Given the description of an element on the screen output the (x, y) to click on. 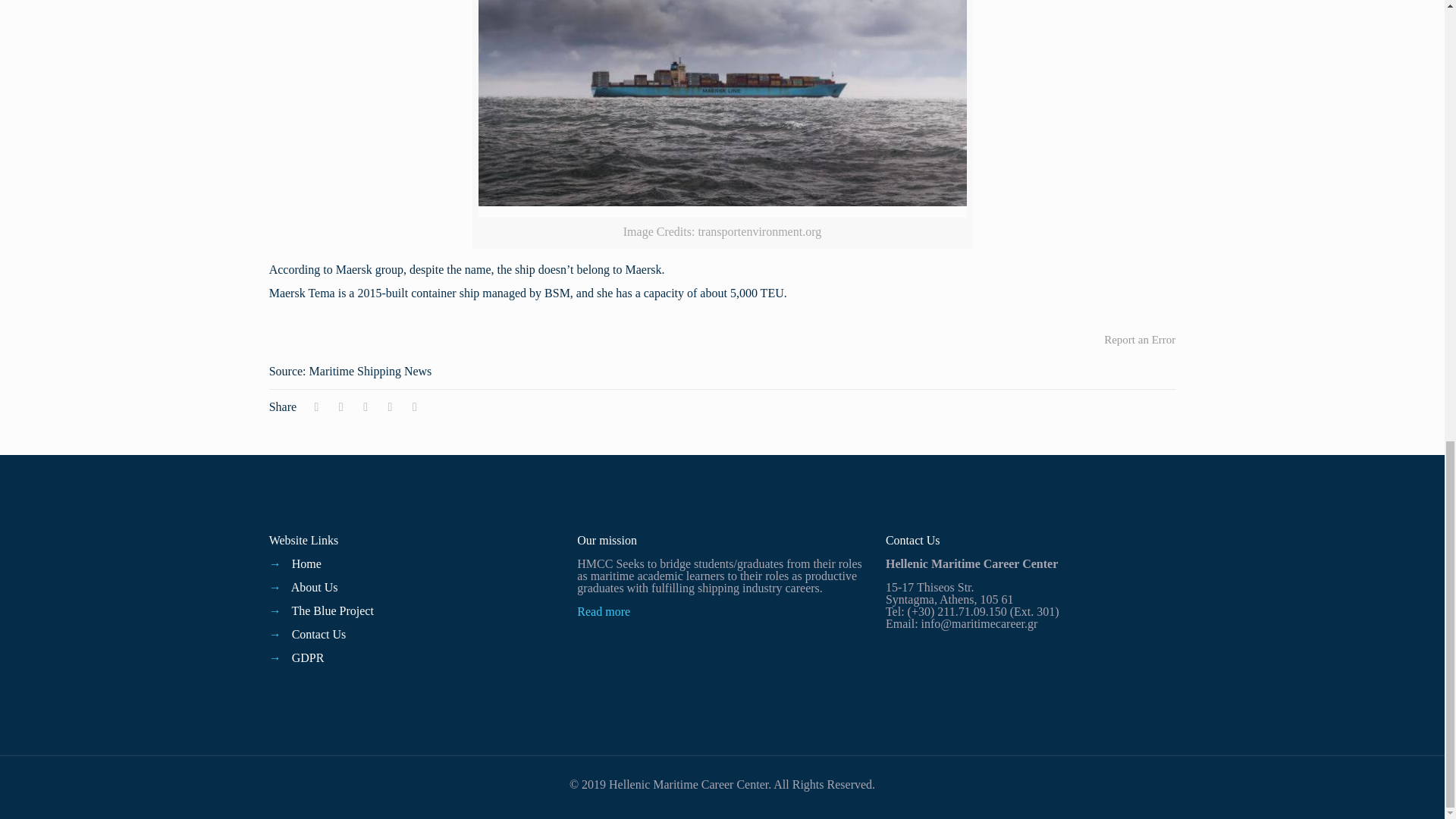
About Us (314, 586)
Home (306, 563)
Read more (603, 611)
Contact Us (319, 634)
Error (1138, 339)
The Blue Project (331, 610)
GDPR (308, 657)
Report an Error (1138, 339)
